Given the description of an element on the screen output the (x, y) to click on. 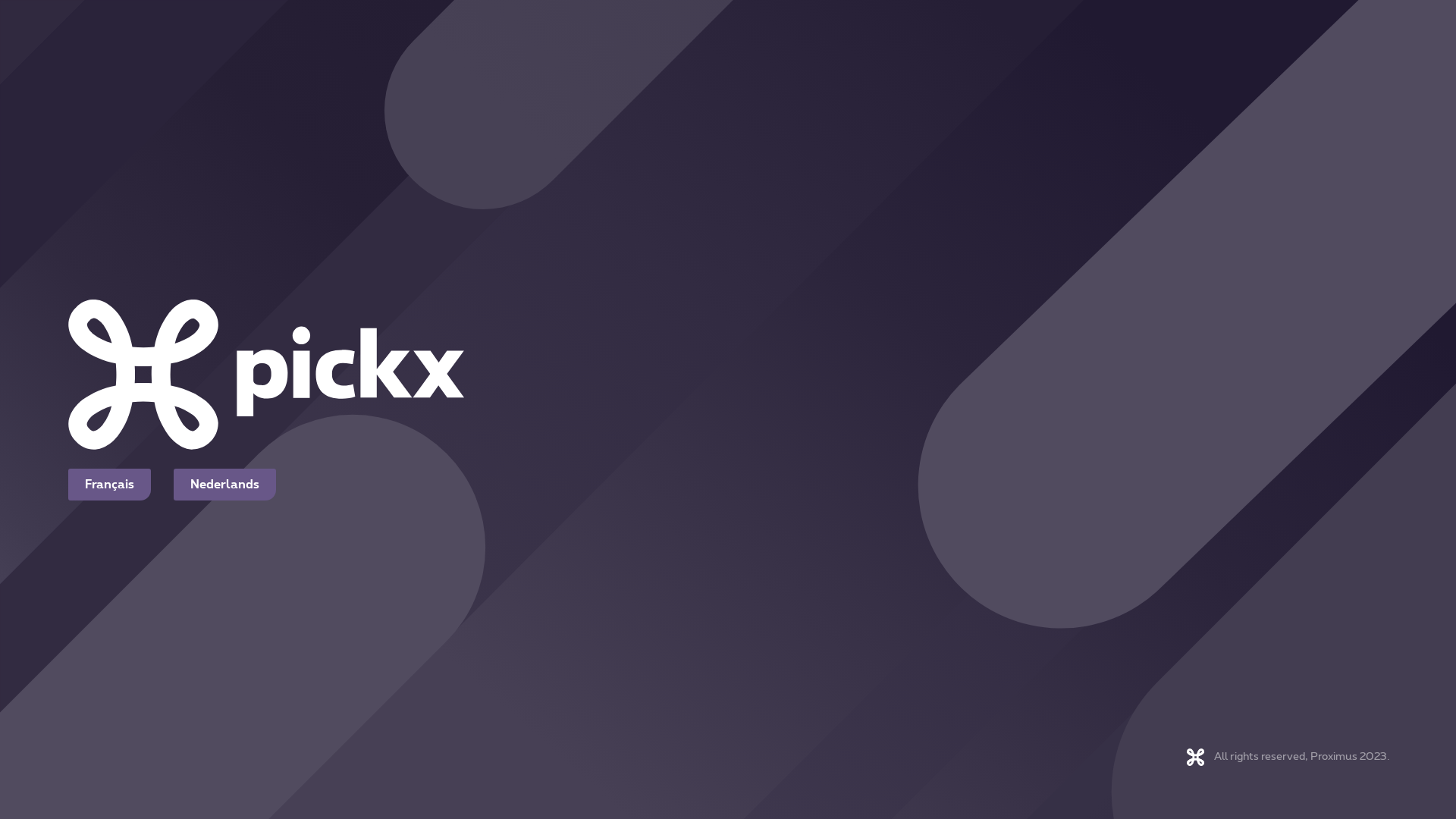
Nederlands Element type: text (224, 484)
